Given the description of an element on the screen output the (x, y) to click on. 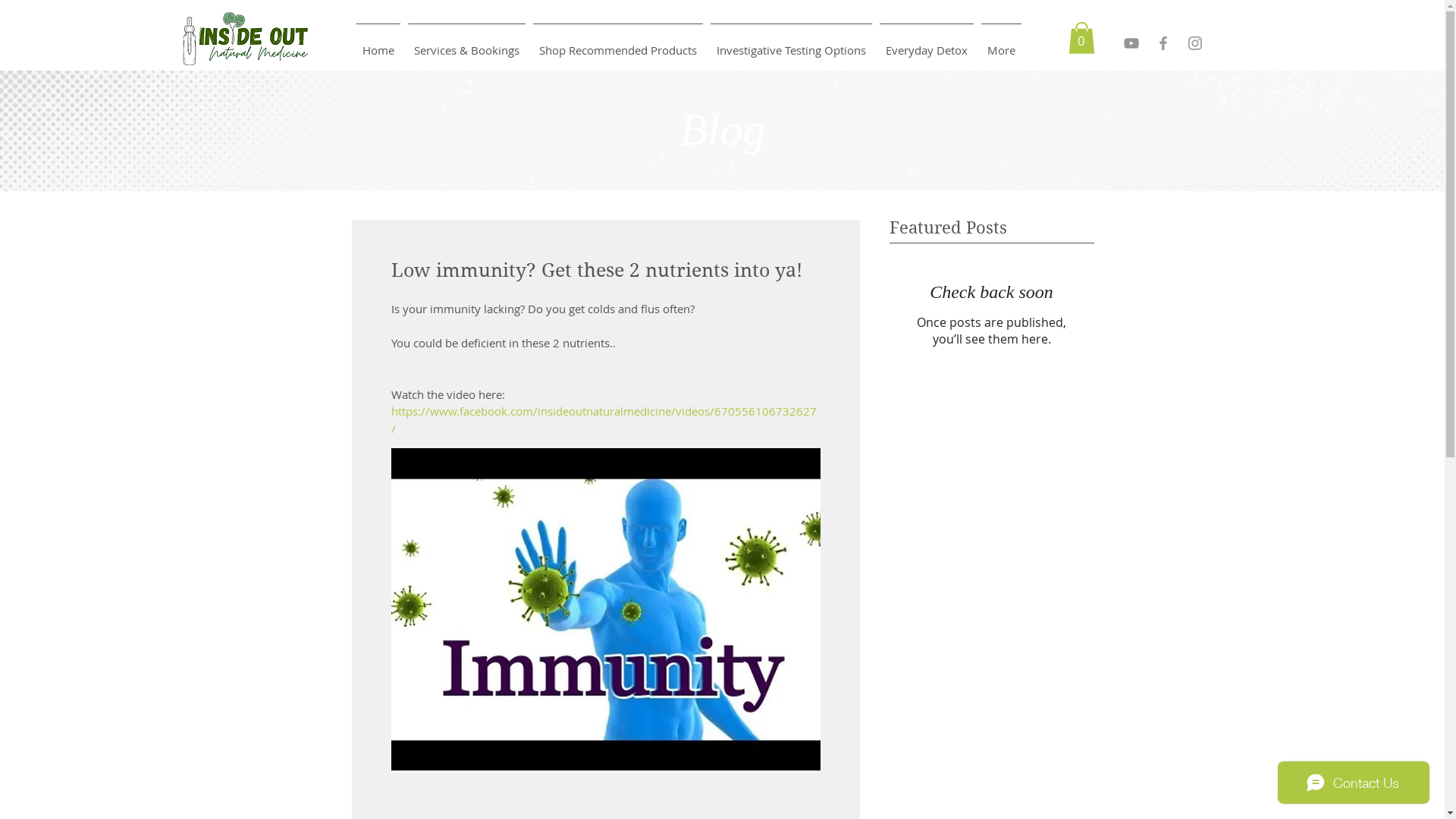
Investigative Testing Options Element type: text (790, 43)
Home Element type: text (377, 43)
Shop Recommended Products Element type: text (617, 43)
0 Element type: text (1080, 37)
